Given the description of an element on the screen output the (x, y) to click on. 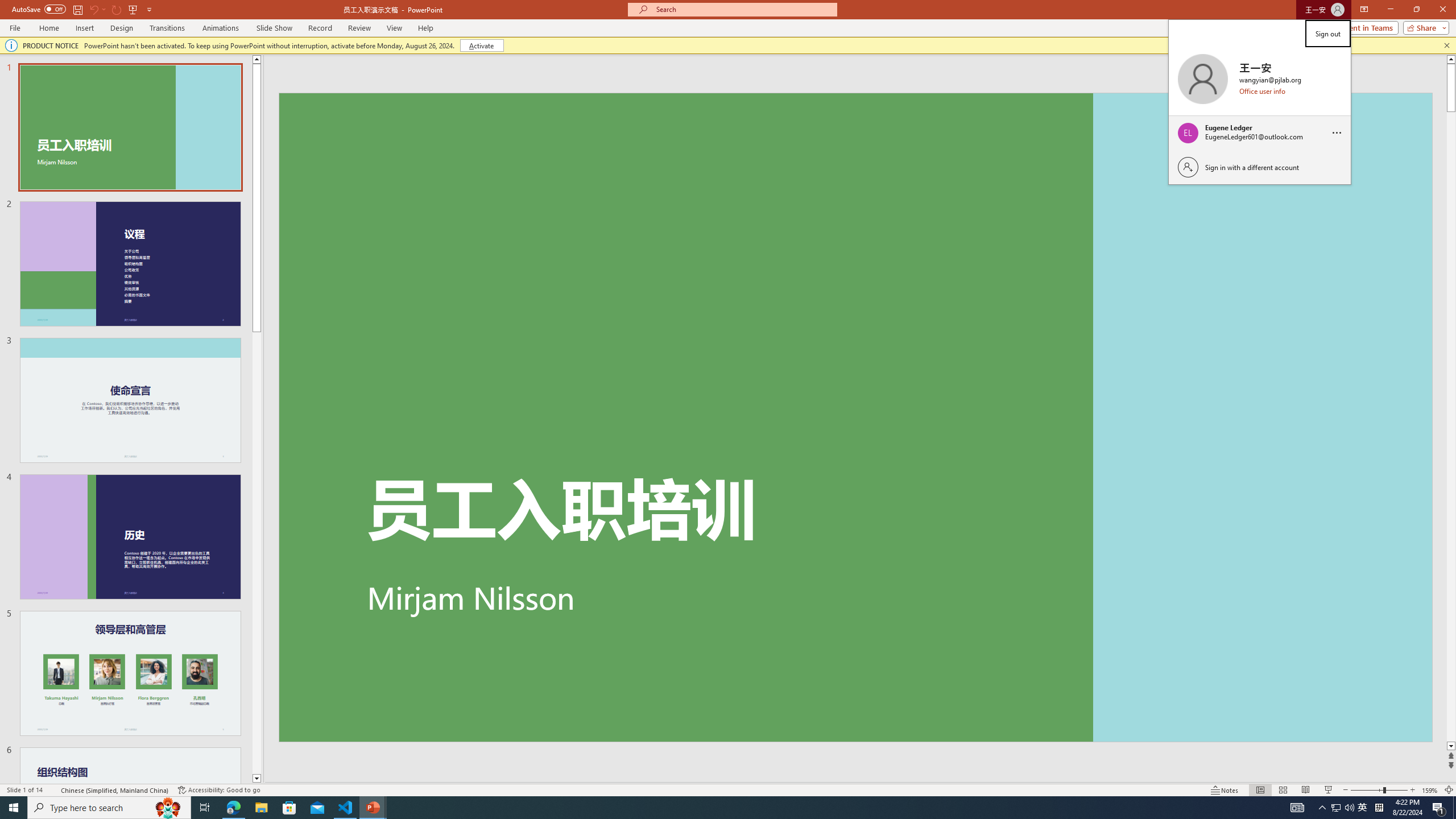
Zoom 159% (1430, 790)
